Given the description of an element on the screen output the (x, y) to click on. 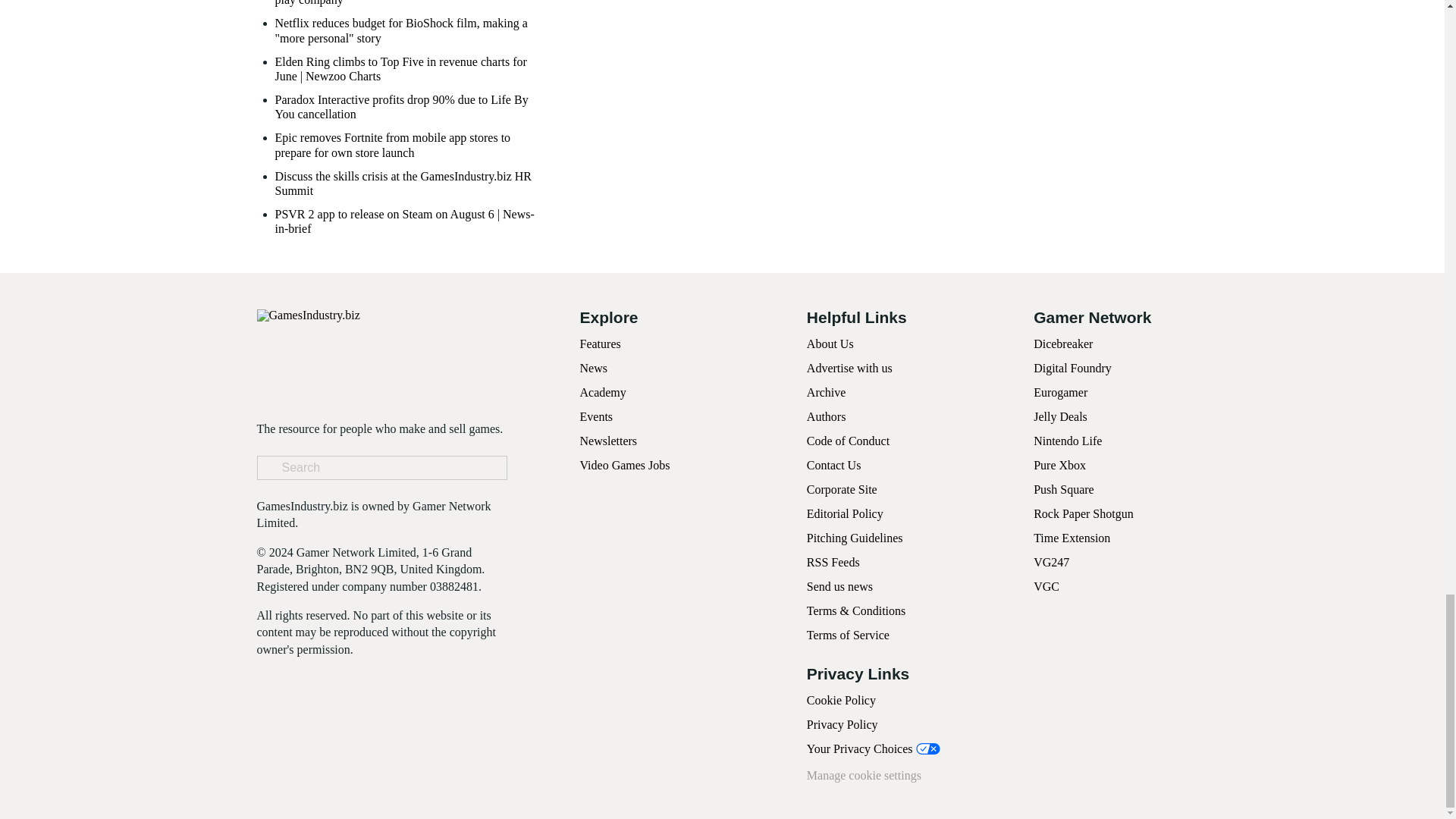
News (593, 367)
Discuss the skills crisis at the GamesIndustry.biz HR Summit (409, 183)
Advertise with us (849, 367)
Archive (825, 391)
Academy (602, 391)
Events (595, 416)
Video Games Jobs (624, 464)
About Us (829, 343)
Features (599, 343)
Newsletters (608, 440)
